Given the description of an element on the screen output the (x, y) to click on. 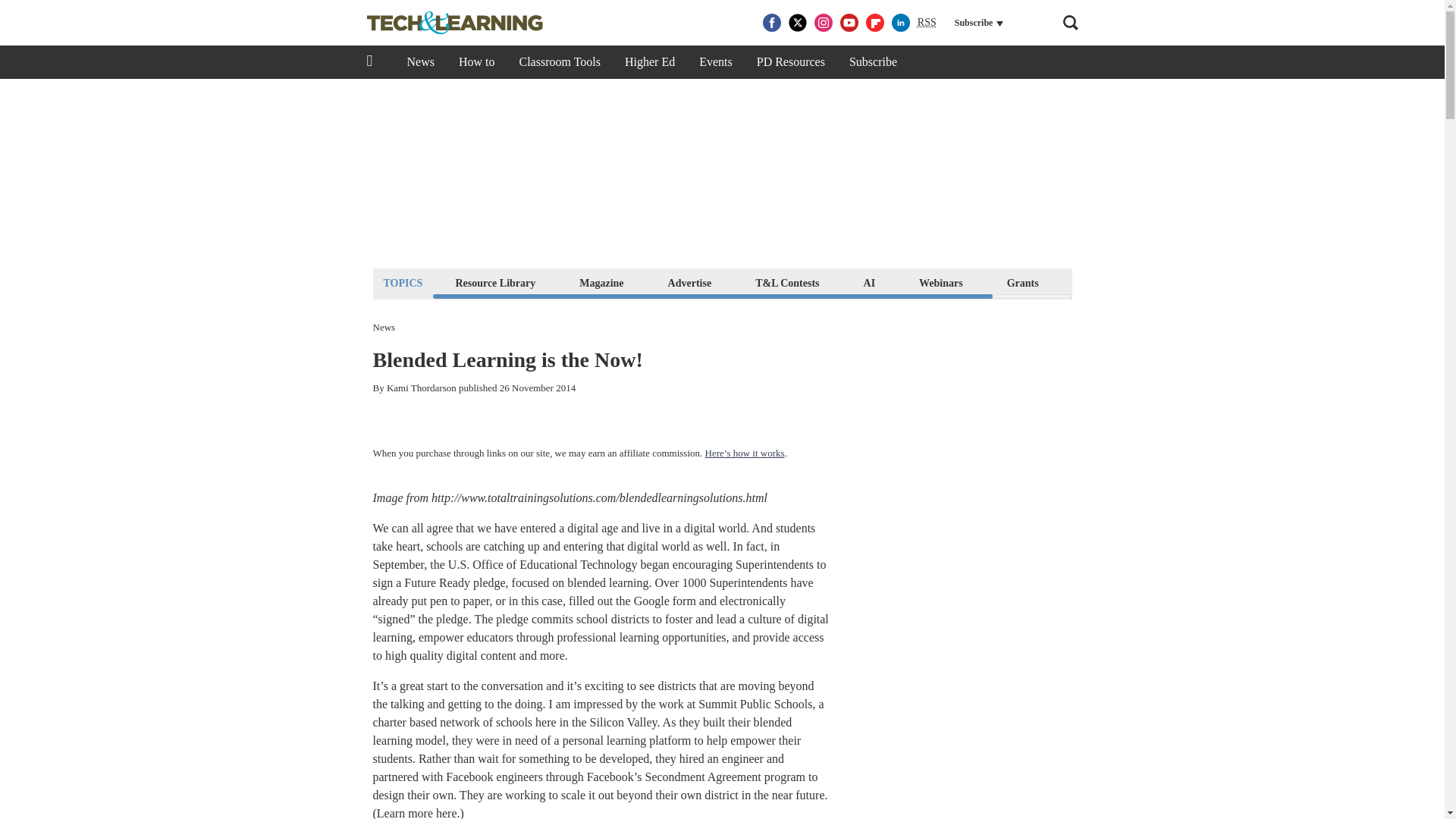
Resource Library (494, 282)
Classroom Tools (558, 61)
Higher Ed (649, 61)
AI (869, 282)
Events (715, 61)
RSS (926, 22)
Magazine (600, 282)
PD Resources (790, 61)
News (419, 61)
Grants (1022, 282)
